Given the description of an element on the screen output the (x, y) to click on. 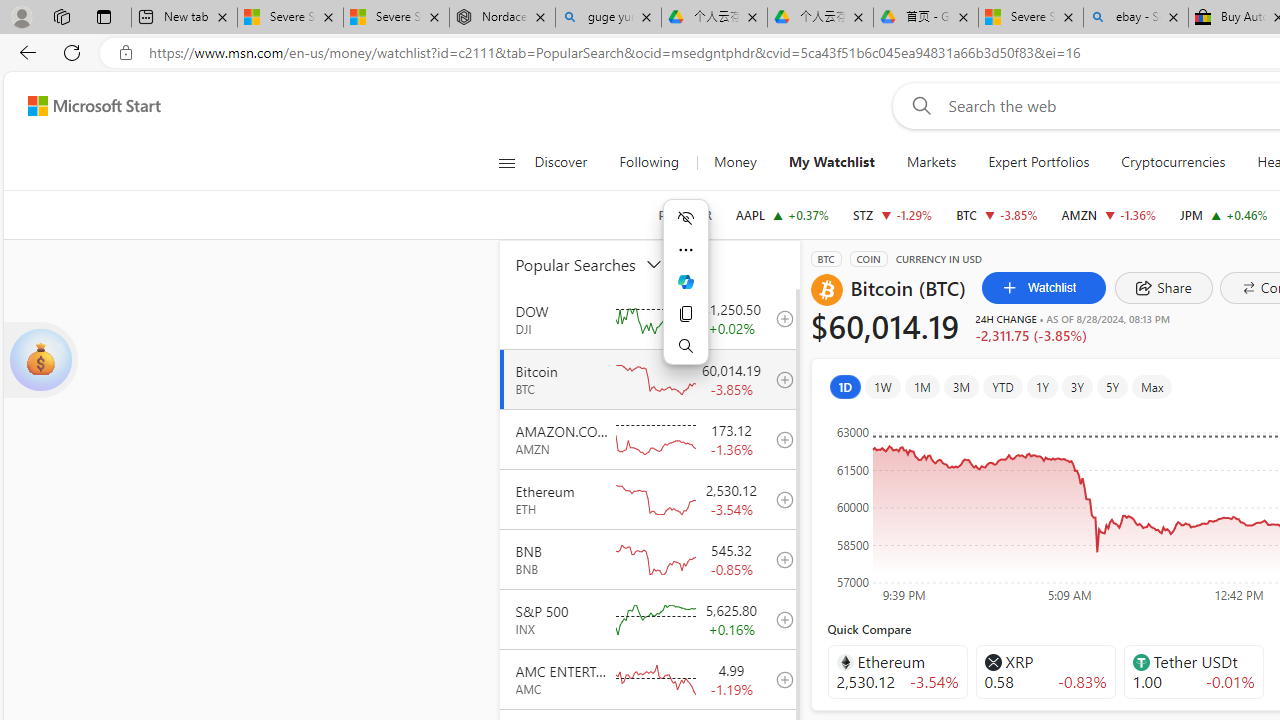
guge yunpan - Search (607, 17)
Class: button-glyph (505, 162)
JPM JPMORGAN CHASE & CO. increase 220.18 +1.01 +0.46% (1223, 214)
1M (921, 386)
Markets (931, 162)
Cryptocurrencies (1172, 162)
AAPL APPLE INC. increase 228.03 +0.85 +0.37% (781, 214)
Expert Portfolios (1038, 162)
